Given the description of an element on the screen output the (x, y) to click on. 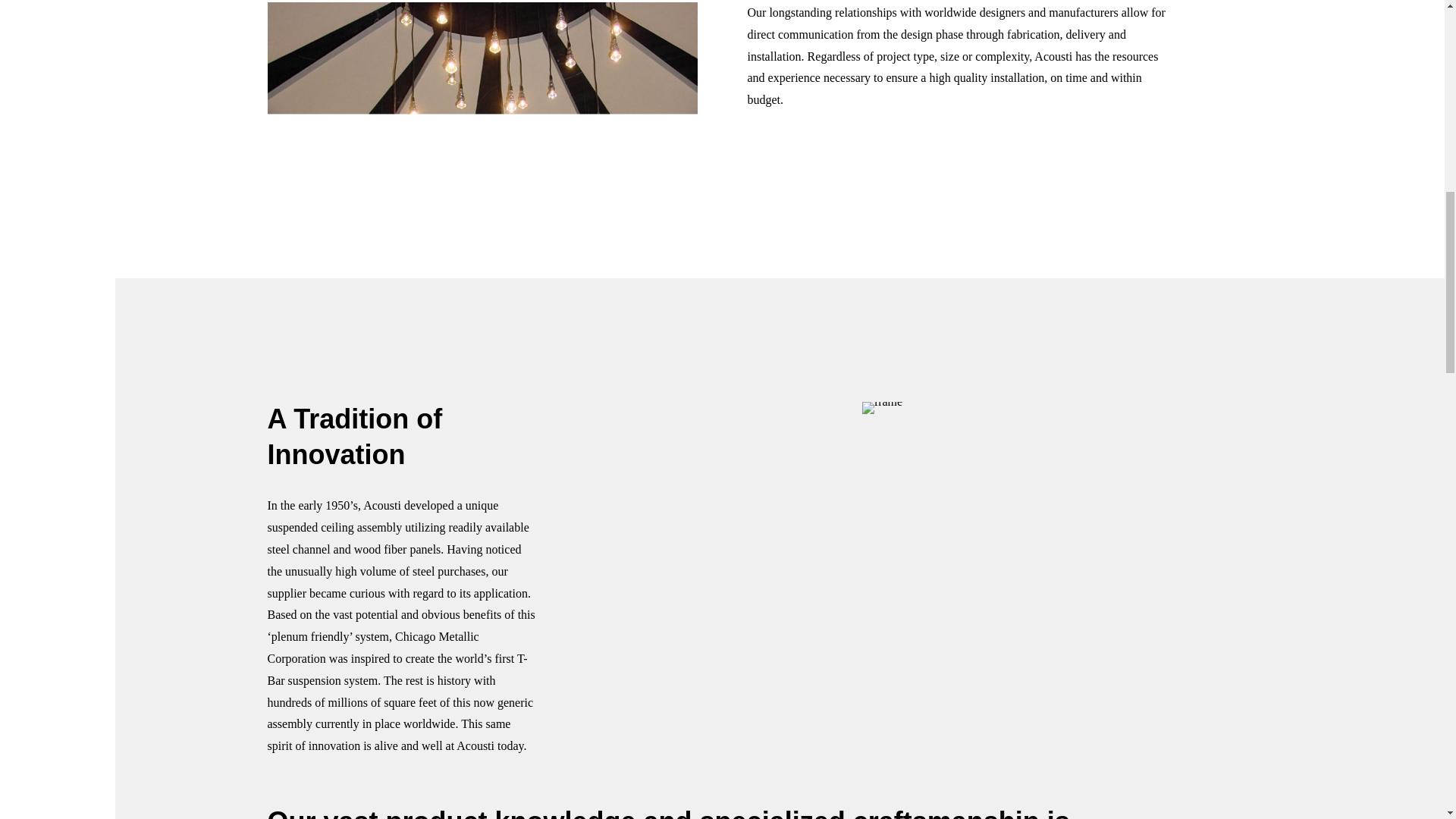
frame-1 (881, 408)
